Given the description of an element on the screen output the (x, y) to click on. 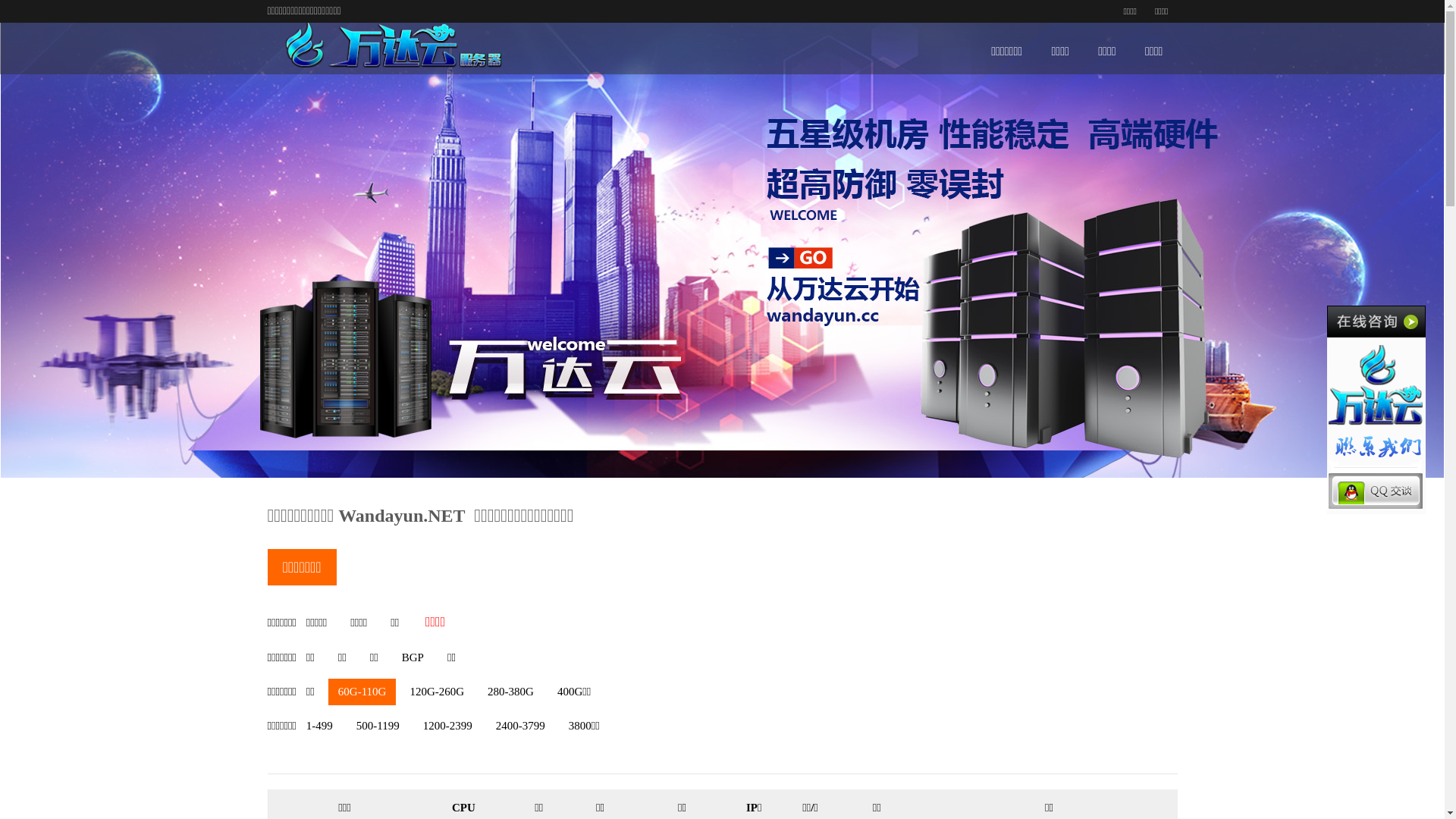
2400-3799 Element type: text (520, 725)
BGP Element type: text (412, 657)
1-499 Element type: text (319, 725)
60G-110G Element type: text (362, 691)
1200-2399 Element type: text (447, 725)
280-380G Element type: text (510, 691)
120G-260G Element type: text (436, 691)
500-1199 Element type: text (377, 725)
